Given the description of an element on the screen output the (x, y) to click on. 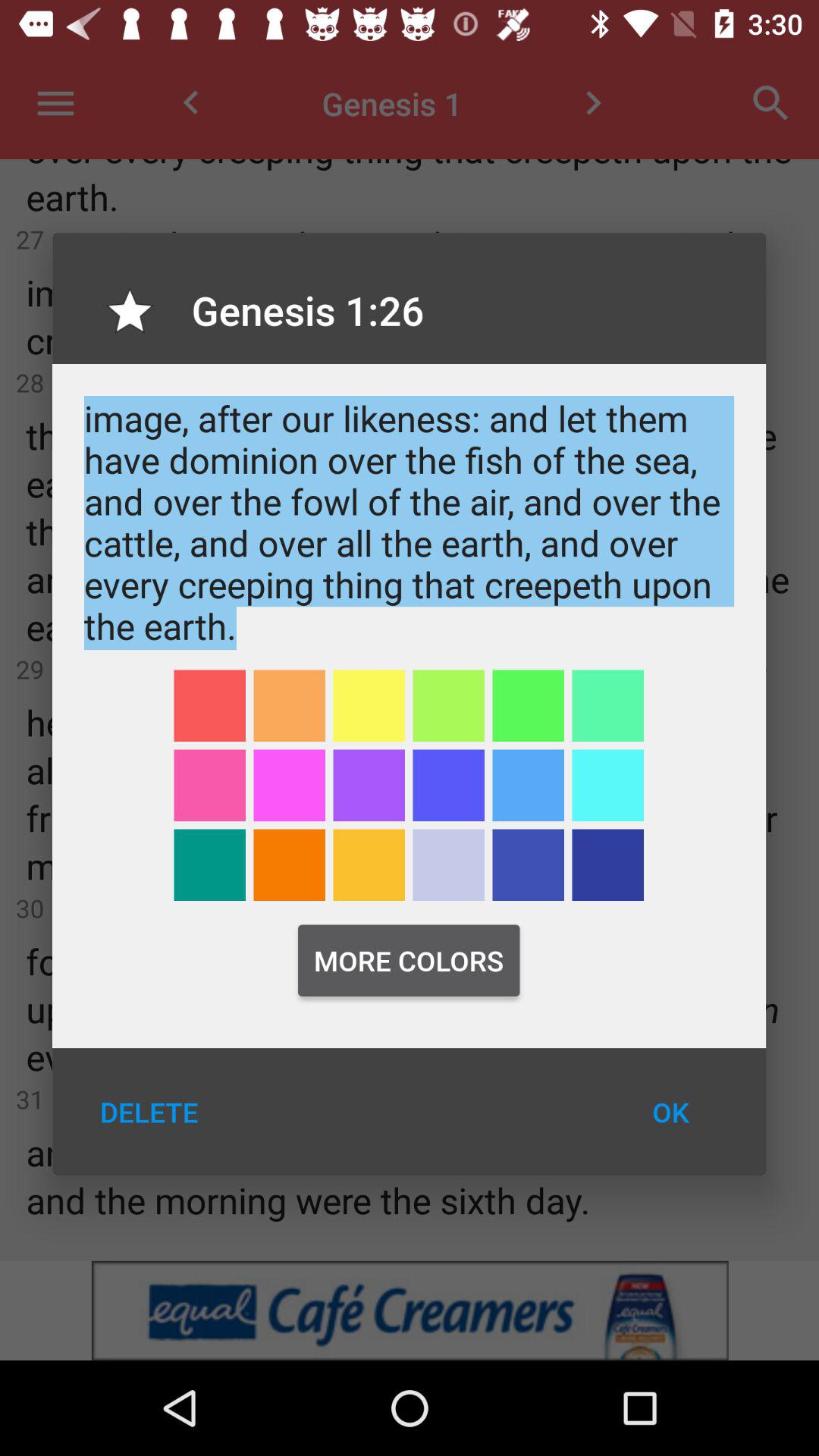
click the more colors icon (408, 960)
